Given the description of an element on the screen output the (x, y) to click on. 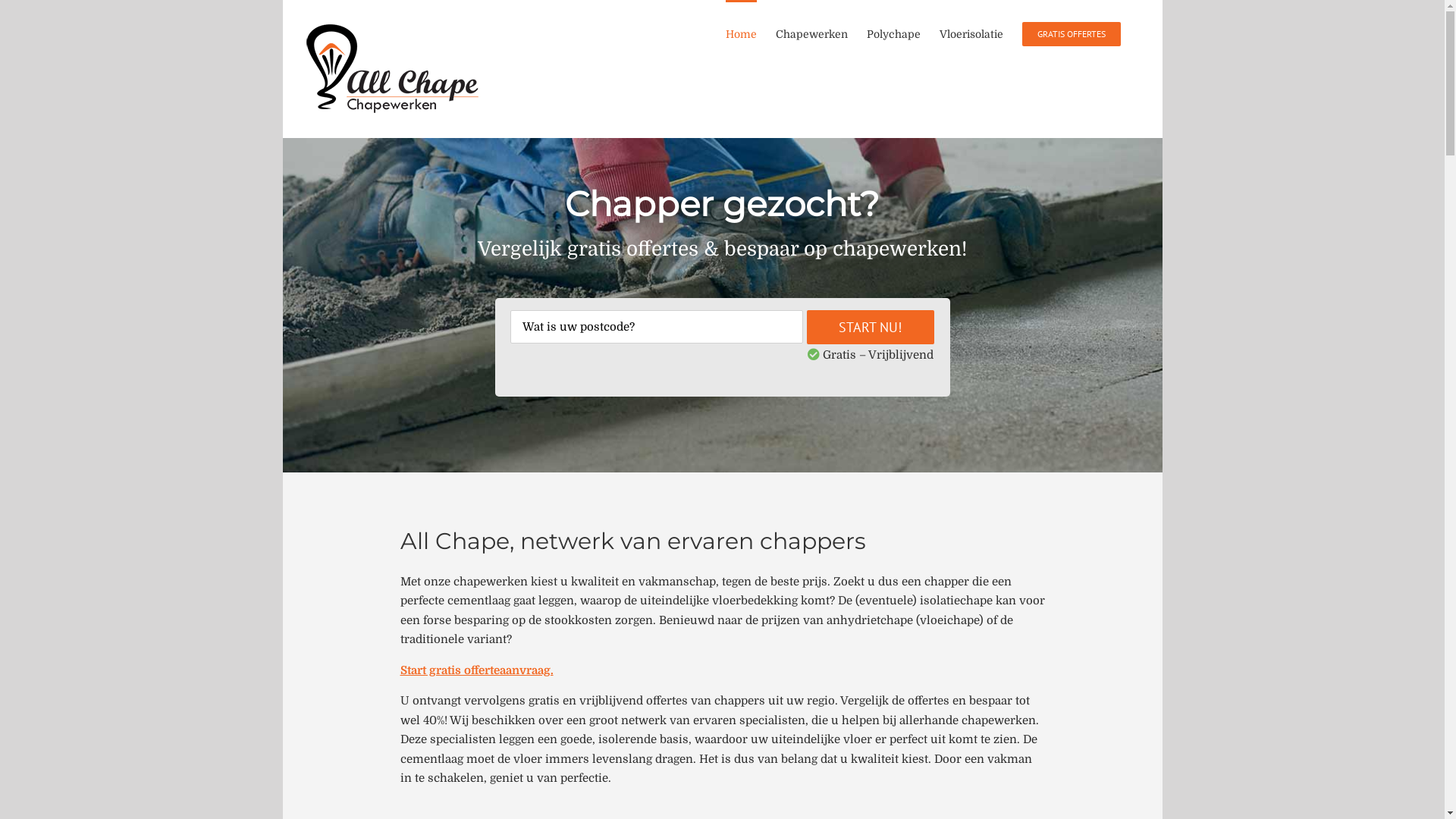
Home Element type: text (740, 32)
Polychape Element type: text (892, 32)
Start gratis offerteaanvraag. Element type: text (476, 670)
START NU! Element type: text (870, 327)
Vloerisolatie Element type: text (970, 32)
Chapewerken Element type: text (811, 32)
GRATIS OFFERTES Element type: text (1071, 32)
